Given the description of an element on the screen output the (x, y) to click on. 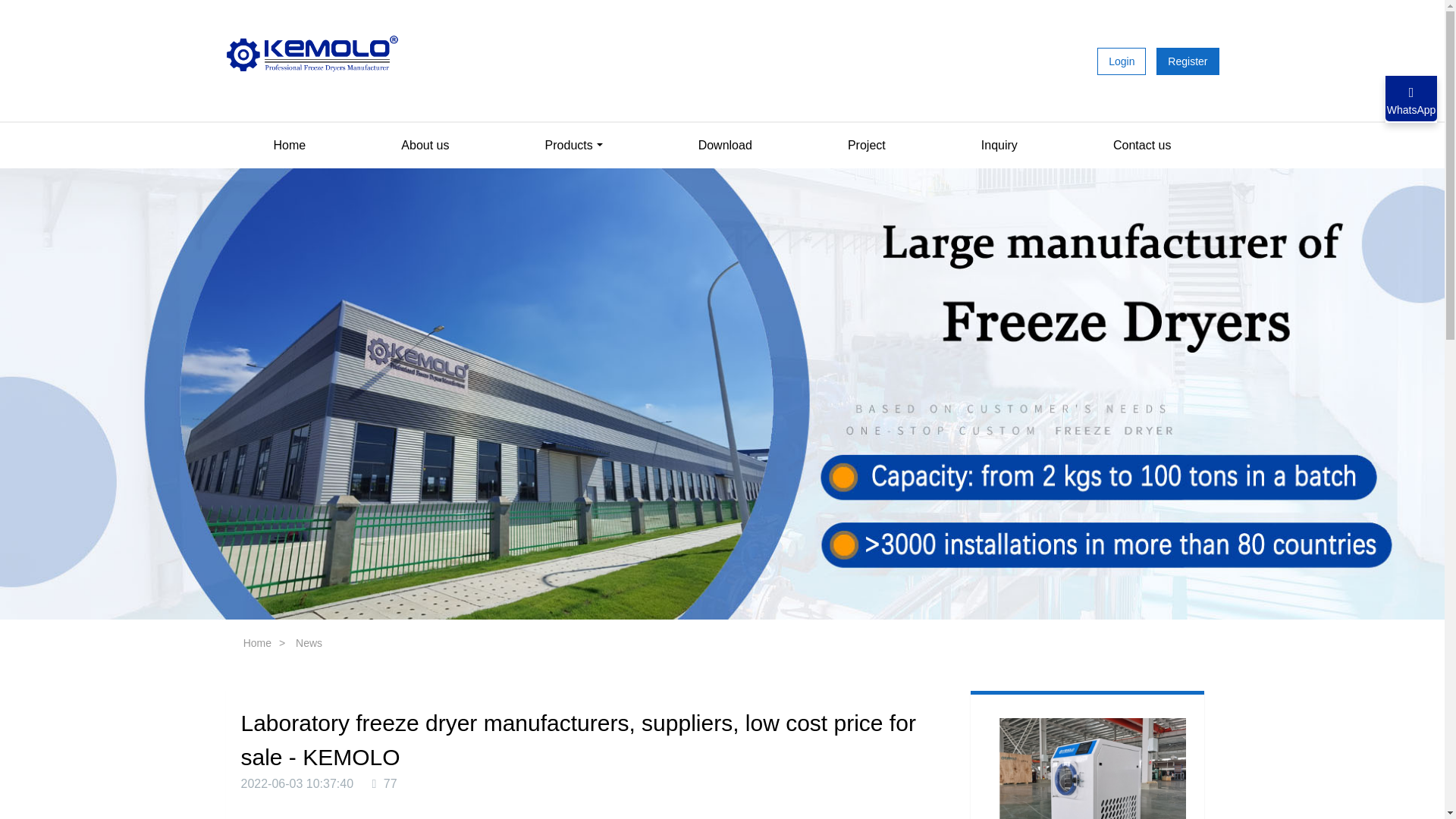
Register (1187, 4)
Home (257, 643)
News (309, 643)
Home (289, 145)
Products (573, 145)
Download (724, 145)
About us (424, 145)
Project (866, 145)
Project (866, 145)
